Given the description of an element on the screen output the (x, y) to click on. 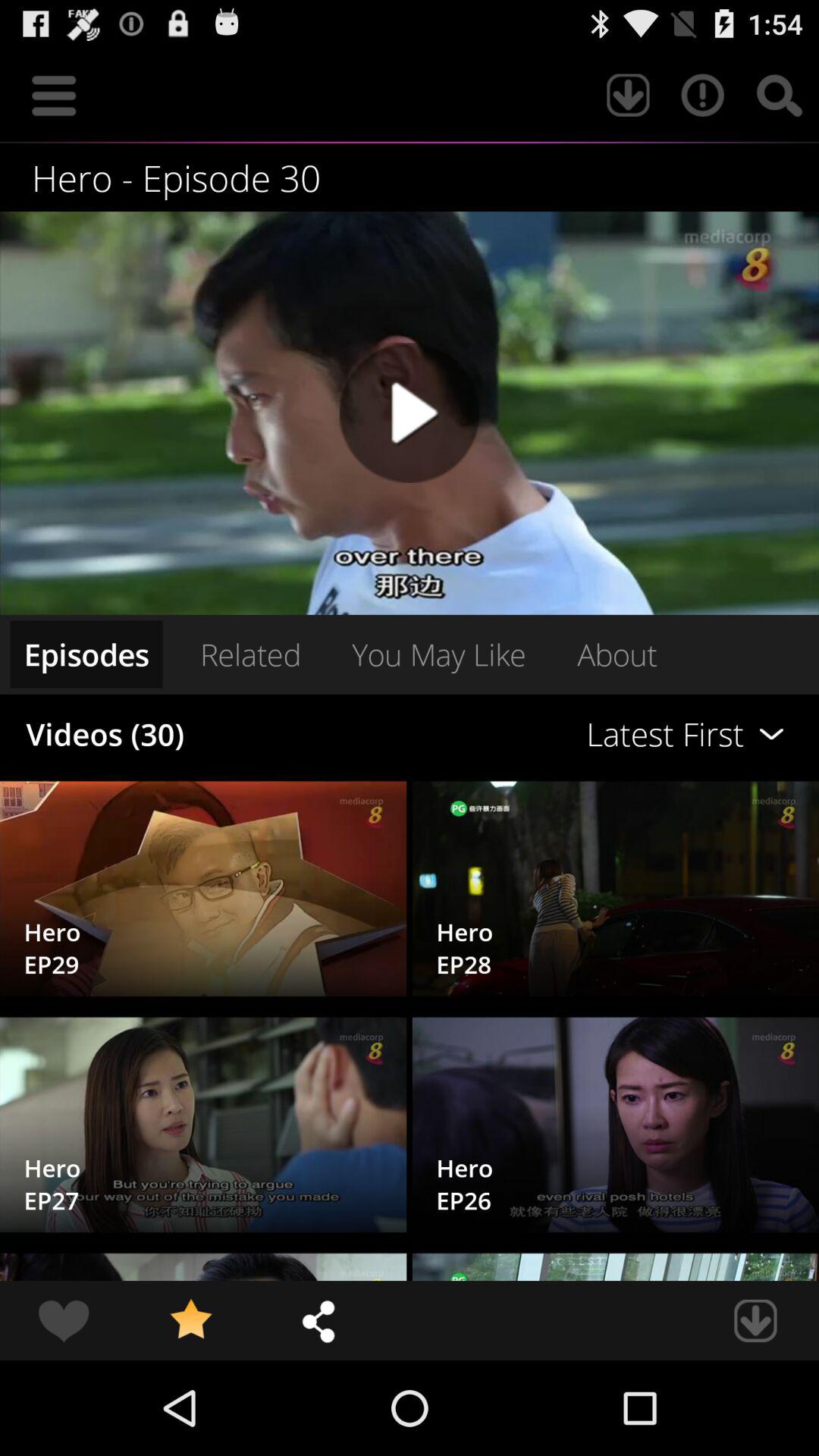
open the icon to the right of episodes item (250, 654)
